Given the description of an element on the screen output the (x, y) to click on. 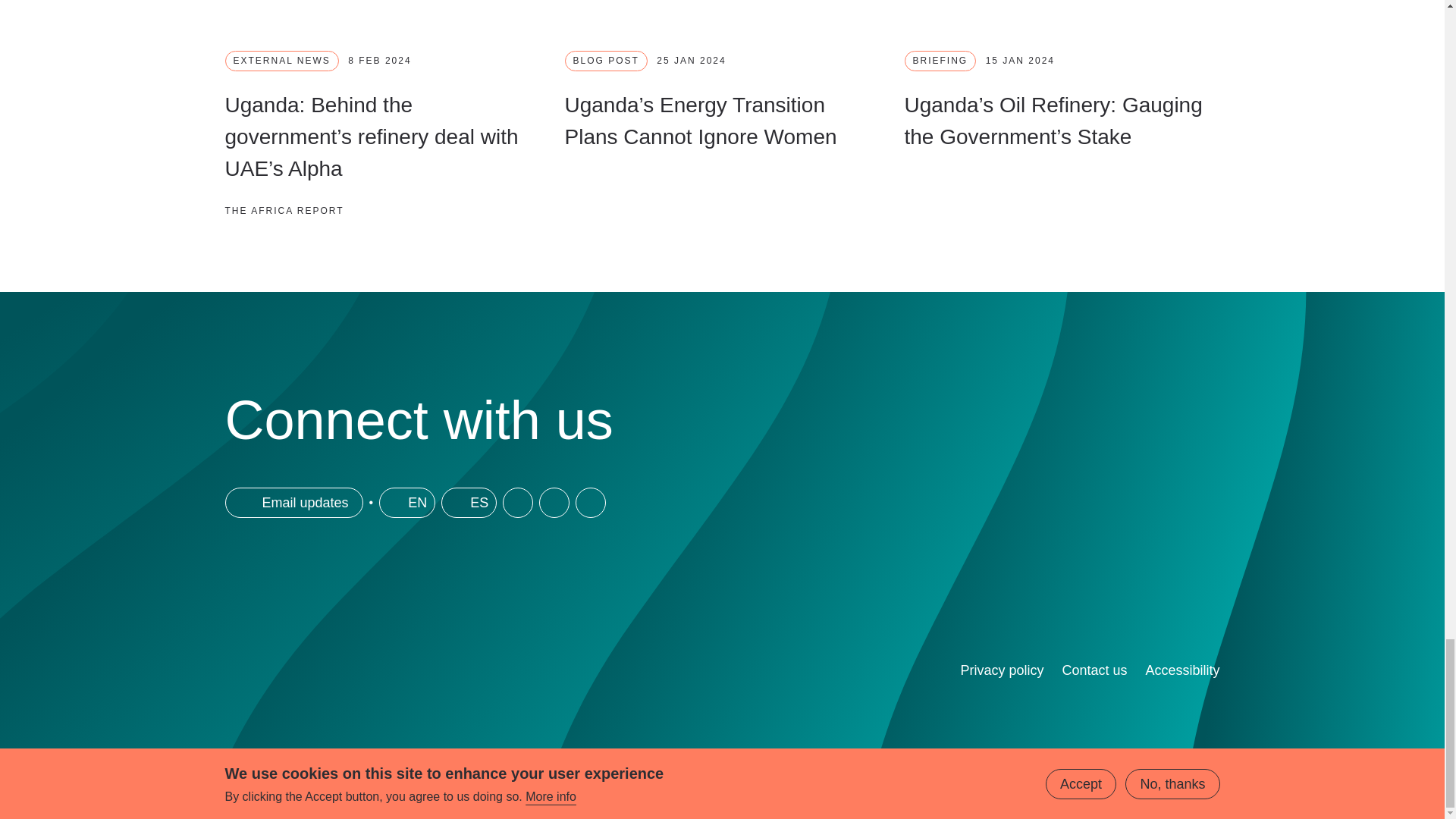
Return to the homepage (412, 684)
